Given the description of an element on the screen output the (x, y) to click on. 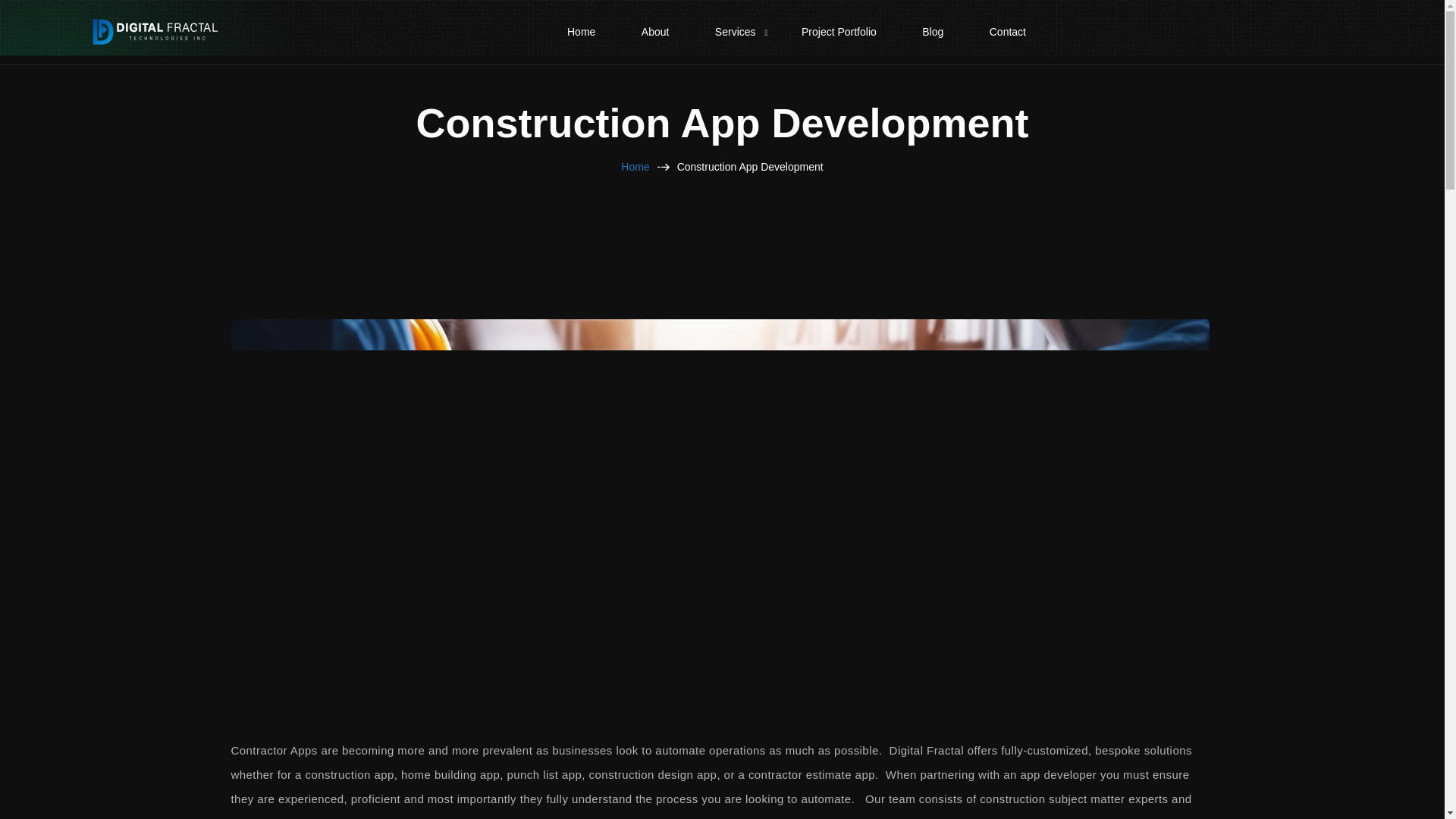
Contact (1007, 32)
Project Portfolio (838, 32)
app developer (1058, 774)
Home (635, 166)
About (655, 32)
Home (580, 32)
Services (735, 32)
